Given the description of an element on the screen output the (x, y) to click on. 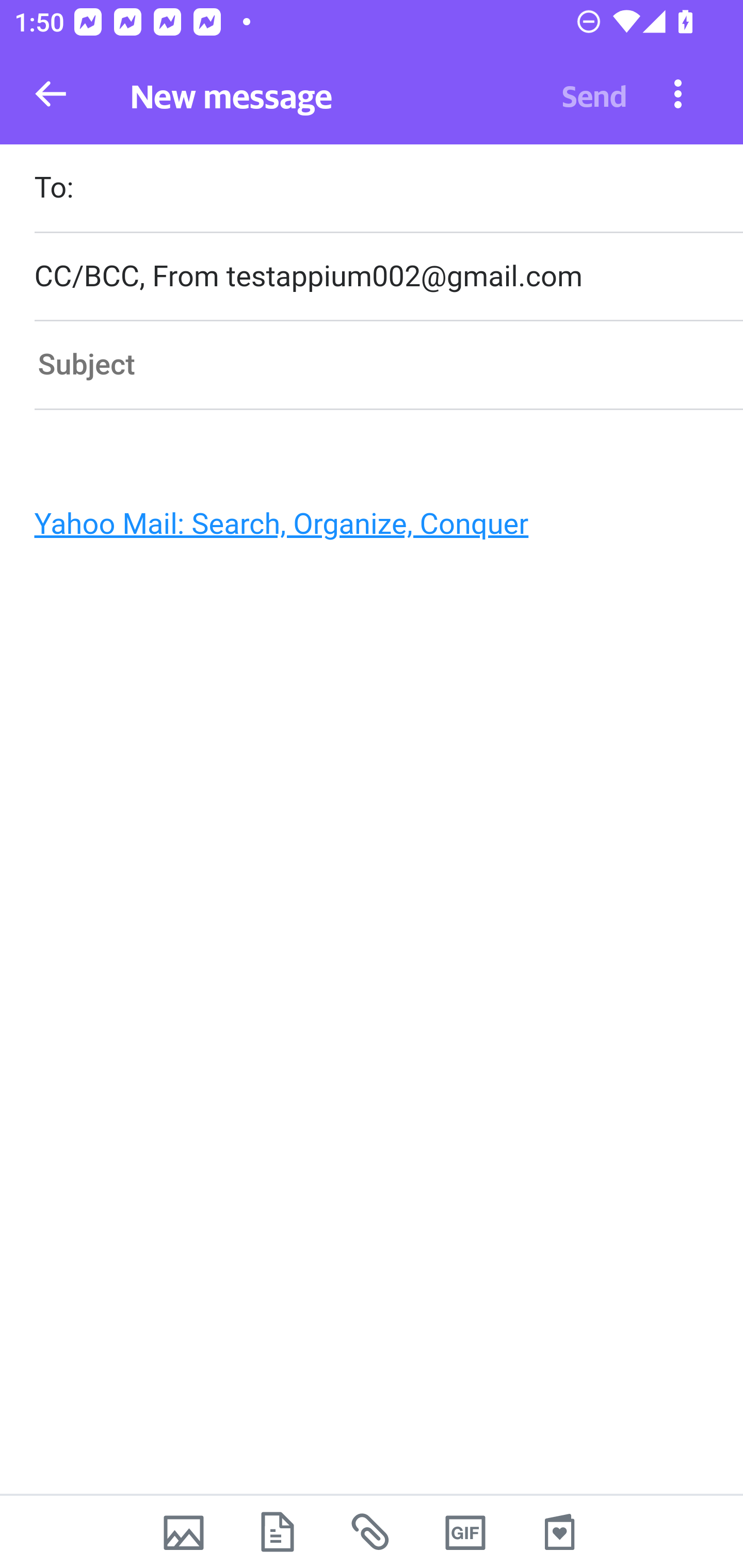
Back (50, 93)
Send (594, 93)
More options (677, 93)
To: (387, 189)
CC/BCC, From testappium002@gmail.com (387, 276)


Yahoo Mail: Search, Organize, Conquer (363, 528)
Camera photos (183, 1531)
Device files (277, 1531)
Recent attachments from mail (371, 1531)
GIFs (465, 1531)
Stationery (559, 1531)
